Given the description of an element on the screen output the (x, y) to click on. 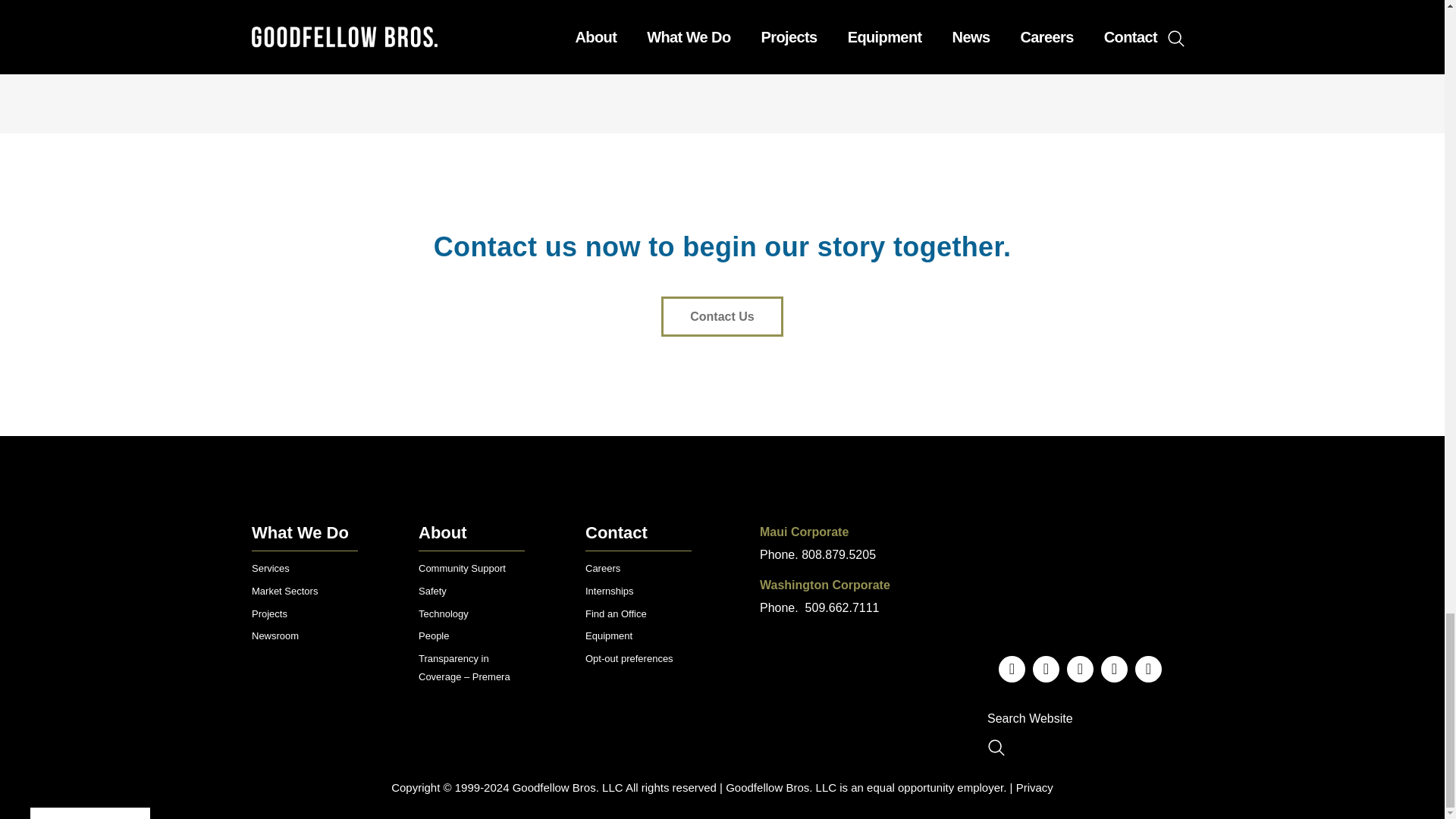
People (433, 635)
Safety (432, 591)
Projects (268, 613)
Community Support (462, 568)
Newsroom (274, 635)
Dashboard, ui, basic, essential, Magnifier (996, 747)
Technology (443, 613)
Market Sectors (284, 591)
Careers (602, 568)
Find an Office (615, 613)
Services (270, 568)
Internships (609, 591)
Equipment (608, 635)
